Given the description of an element on the screen output the (x, y) to click on. 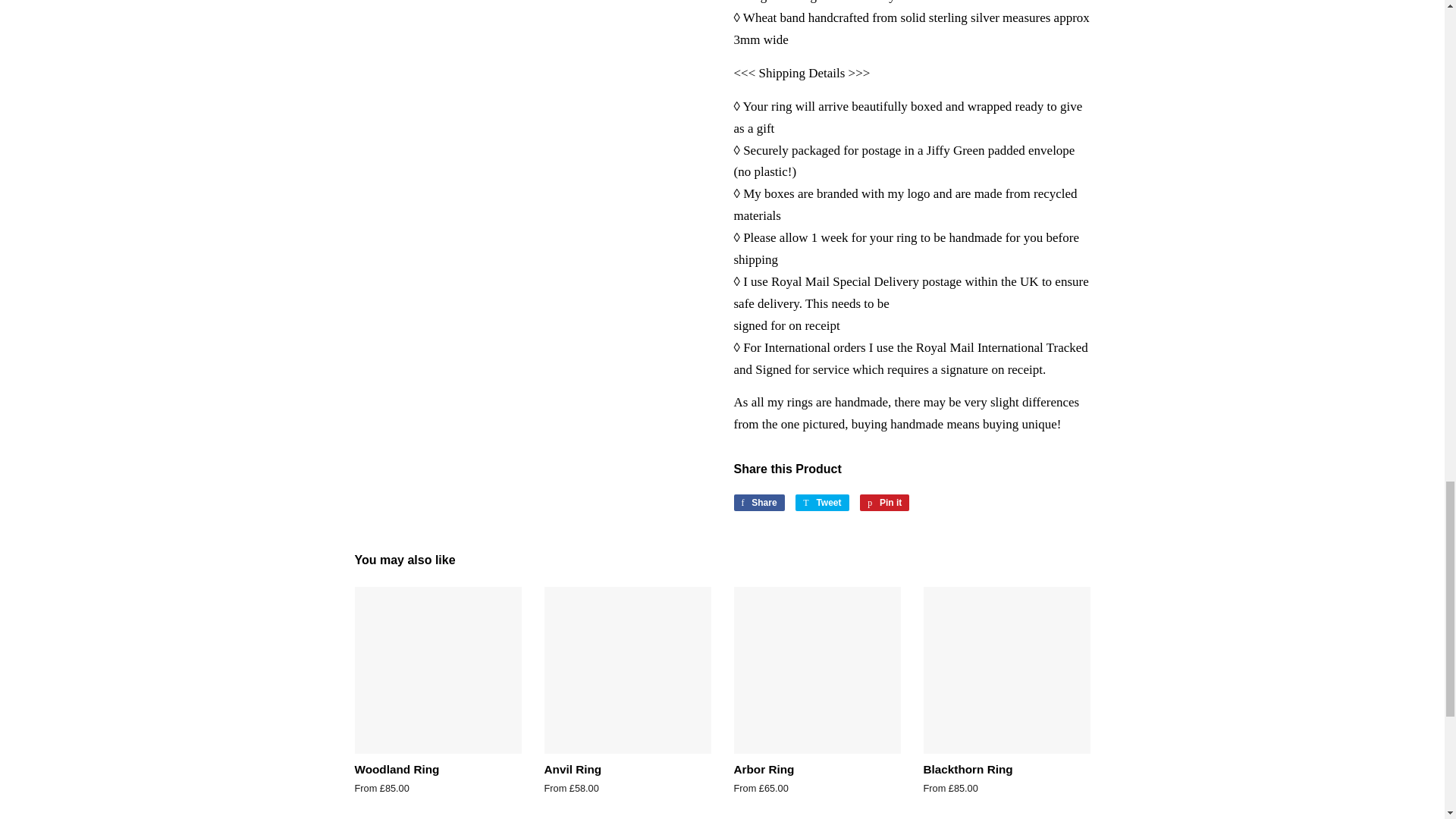
Share on Facebook (884, 502)
Tweet on Twitter (758, 502)
Pin on Pinterest (821, 502)
